Given the description of an element on the screen output the (x, y) to click on. 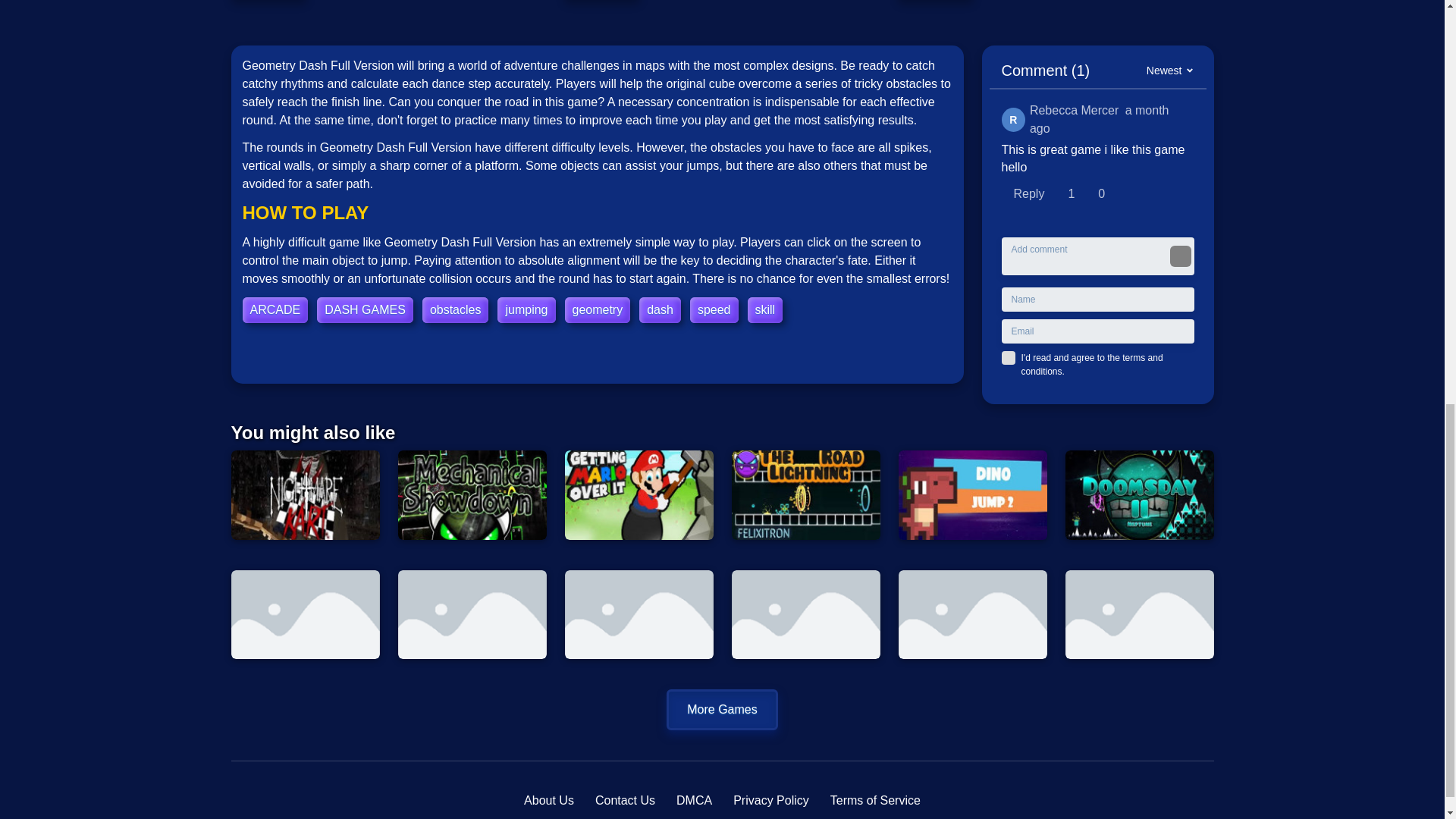
Terms of Service (874, 800)
DMCA (694, 800)
Add a comment to this comment (1028, 194)
Rebecca Mercer (1013, 119)
Privacy Policy (771, 800)
About Us (548, 800)
Contact Us (625, 800)
